Given the description of an element on the screen output the (x, y) to click on. 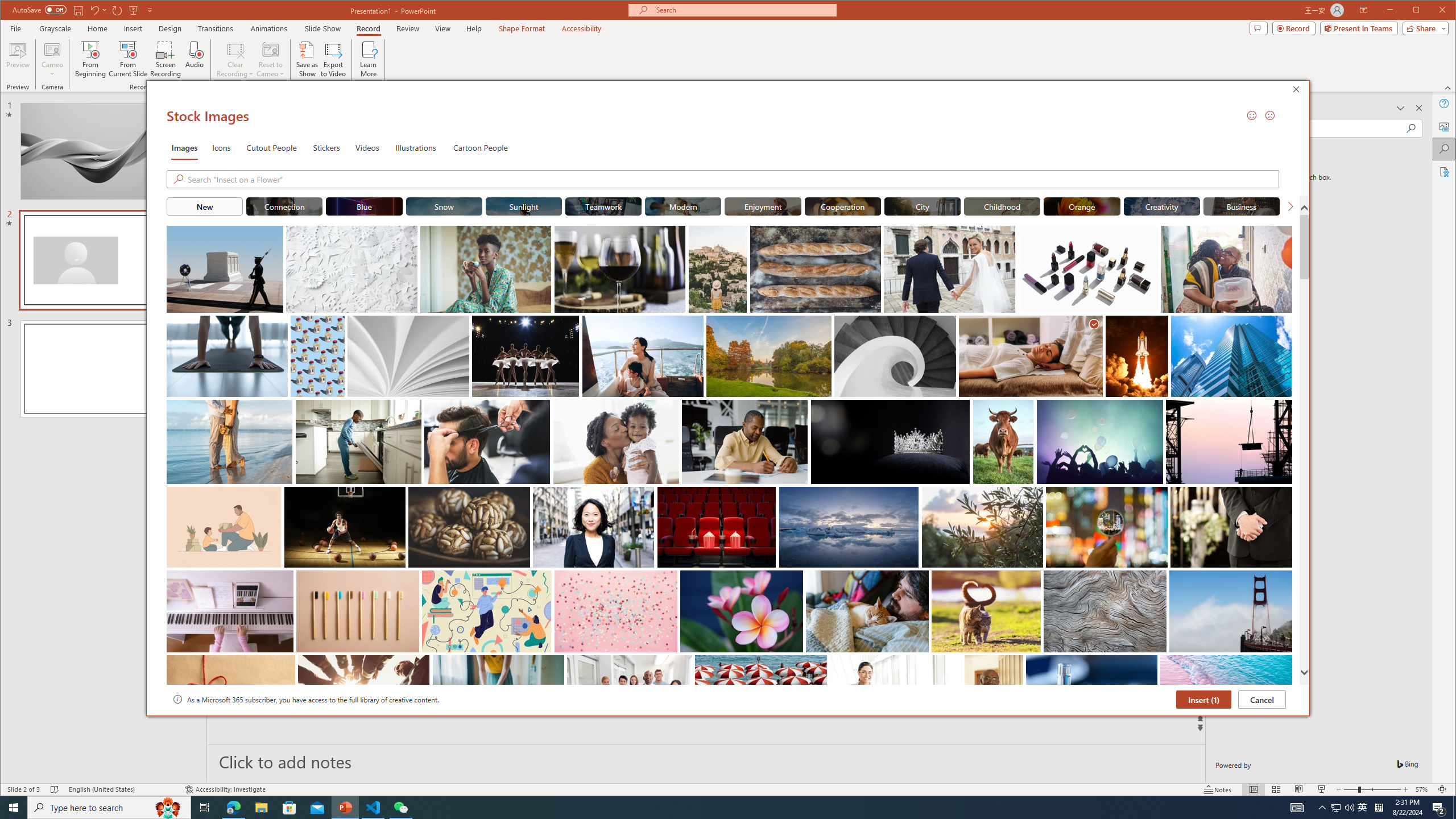
Insert (1) (1203, 699)
"Creativity" Stock Images. (1161, 206)
Search "Insect on a Flower" (732, 178)
"Blue" Stock Images. (364, 206)
Cutout People (271, 147)
